Given the description of an element on the screen output the (x, y) to click on. 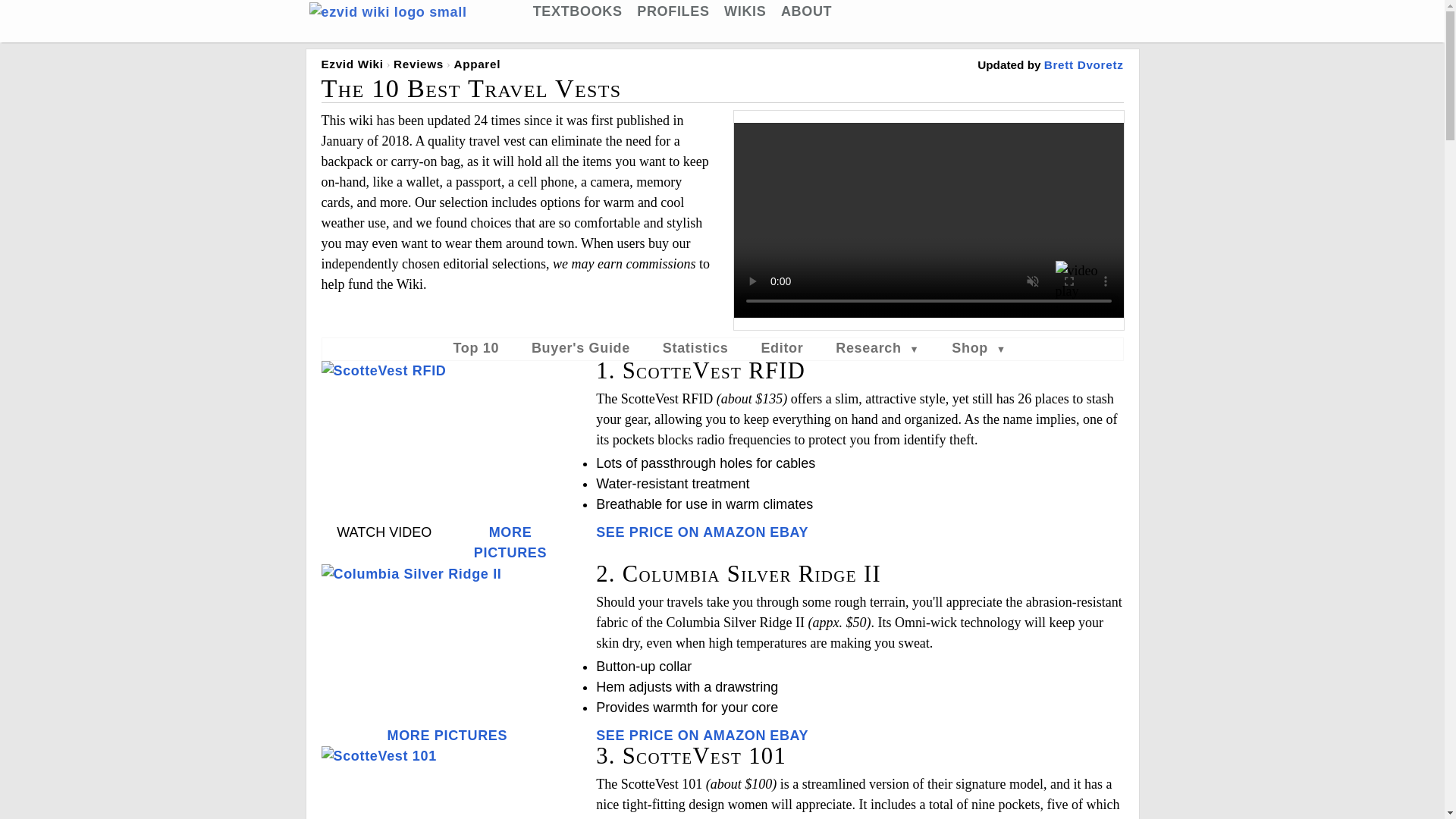
Editor (781, 347)
PROFILES (673, 10)
Reviews (418, 63)
EBAY (789, 531)
ABOUT (805, 10)
SEE PRICE ON AMAZON (680, 531)
MORE PICTURES (510, 542)
Statistics (695, 347)
Brett Dvoretz (1083, 64)
WIKIS (744, 10)
Apparel (476, 63)
TEXTBOOKS (577, 10)
MORE PICTURES (446, 735)
Top 10 (475, 347)
Buyer's Guide (580, 347)
